Given the description of an element on the screen output the (x, y) to click on. 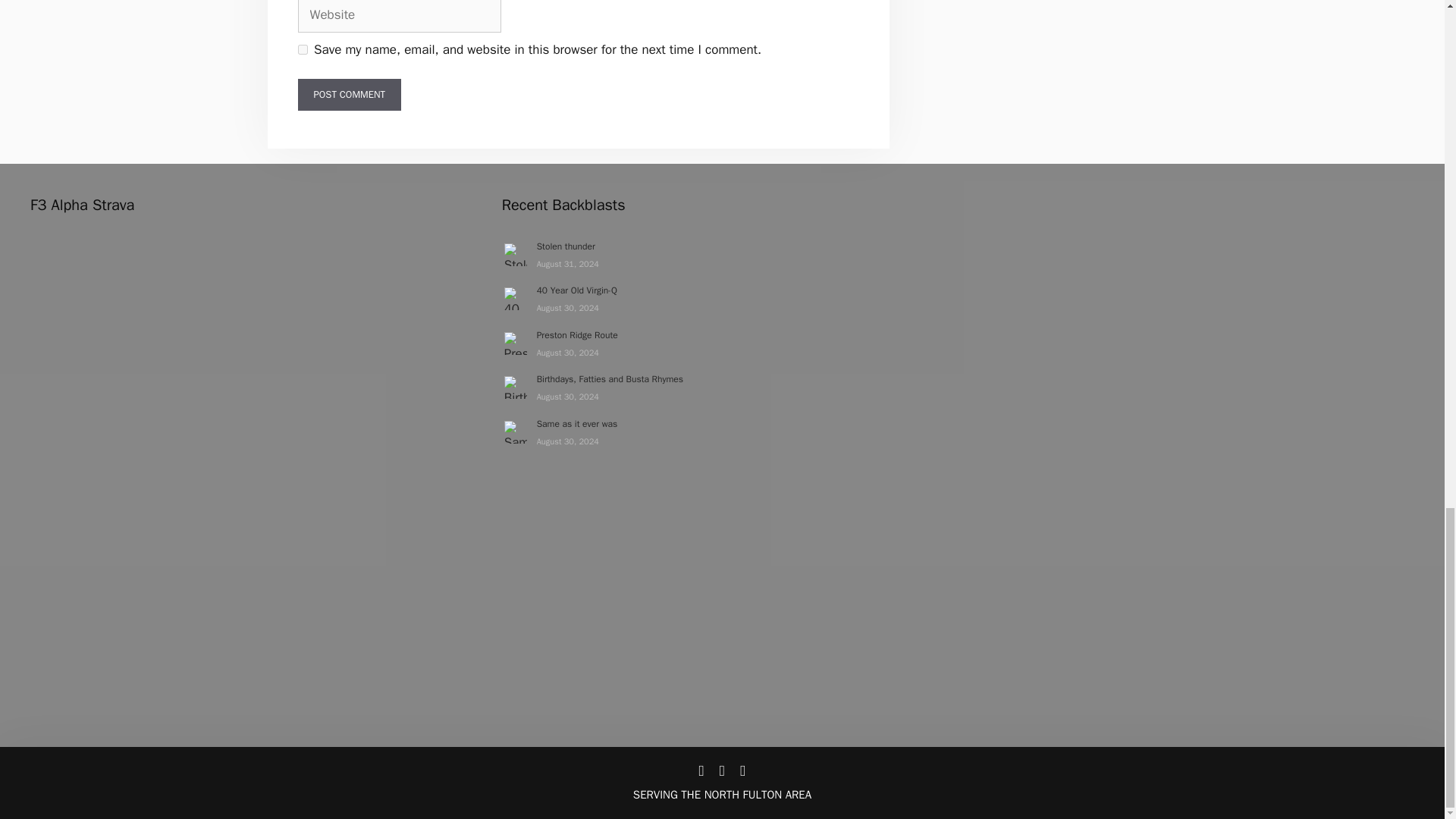
yes (302, 49)
Post Comment (349, 94)
Post Comment (349, 94)
